Given the description of an element on the screen output the (x, y) to click on. 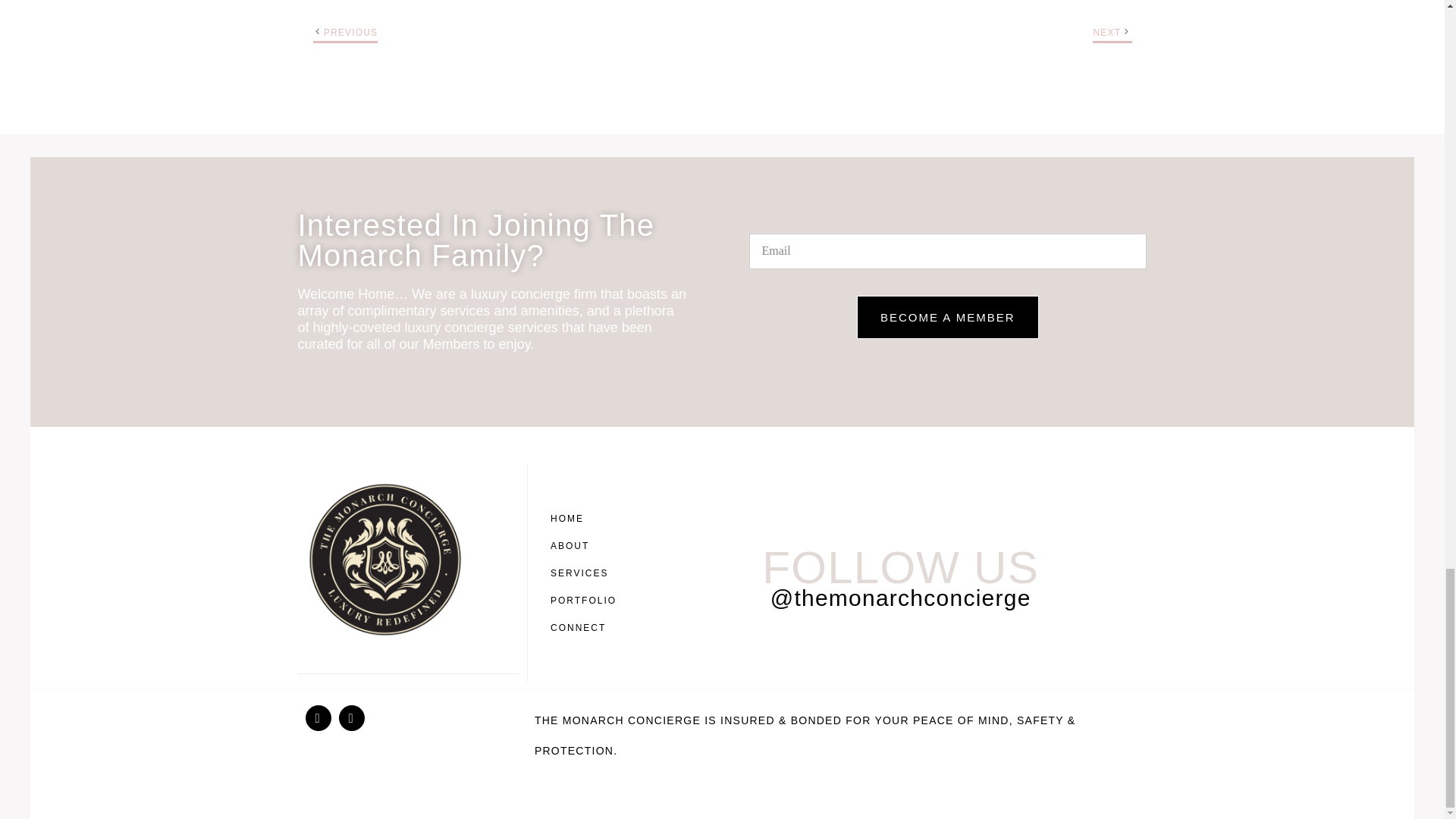
CONNECT (587, 627)
PORTFOLIO (587, 600)
SERVICES (587, 573)
NEXT (1107, 32)
HOME (587, 518)
BECOME A MEMBER (948, 317)
PREVIOUS (350, 32)
ABOUT (587, 545)
